Given the description of an element on the screen output the (x, y) to click on. 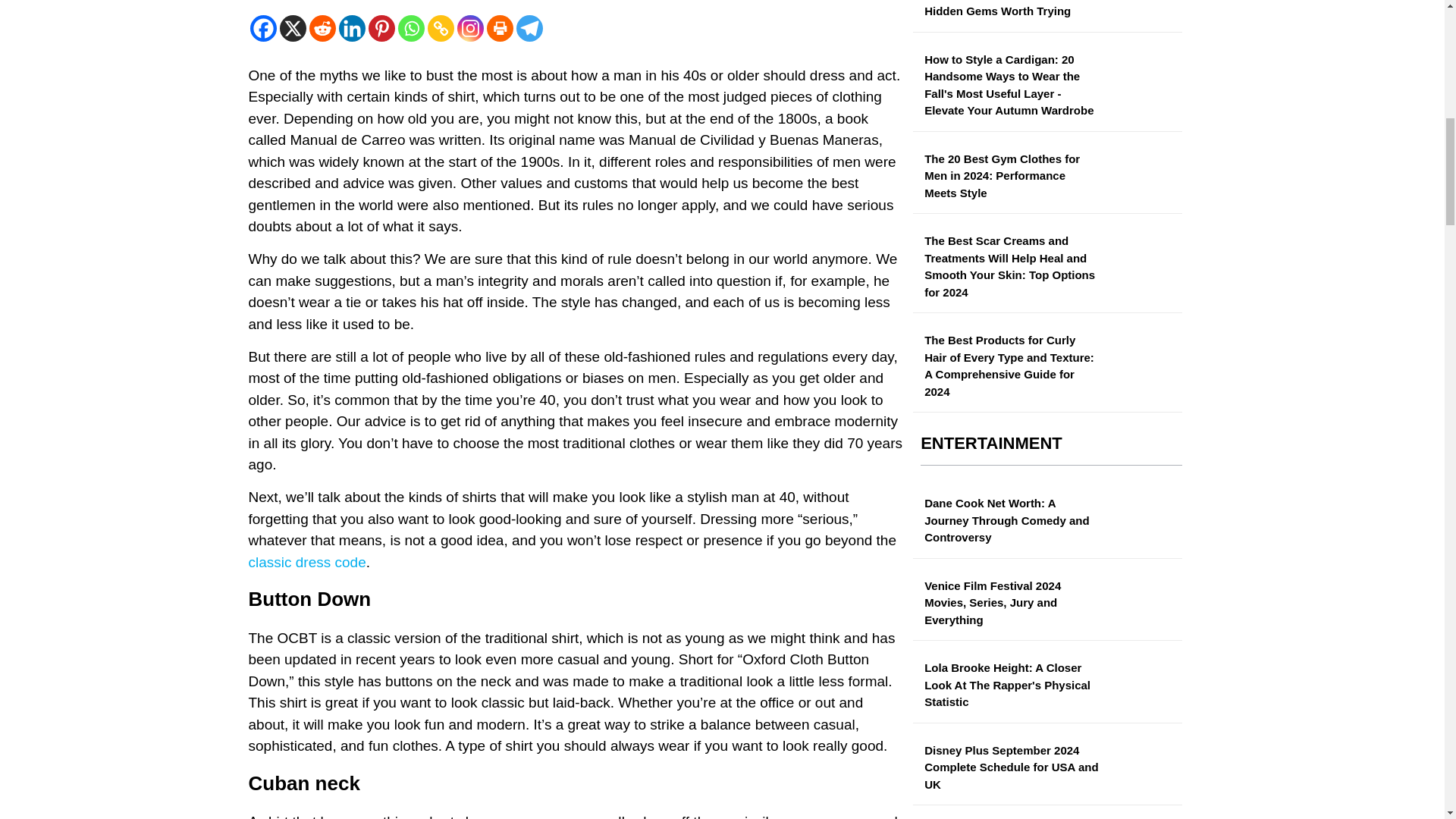
Instagram (470, 28)
Telegram (528, 28)
Linkedin (351, 28)
Pinterest (381, 28)
X (292, 28)
Whatsapp (410, 28)
Reddit (322, 28)
Copy Link (441, 28)
Facebook (263, 28)
Print (499, 28)
